Given the description of an element on the screen output the (x, y) to click on. 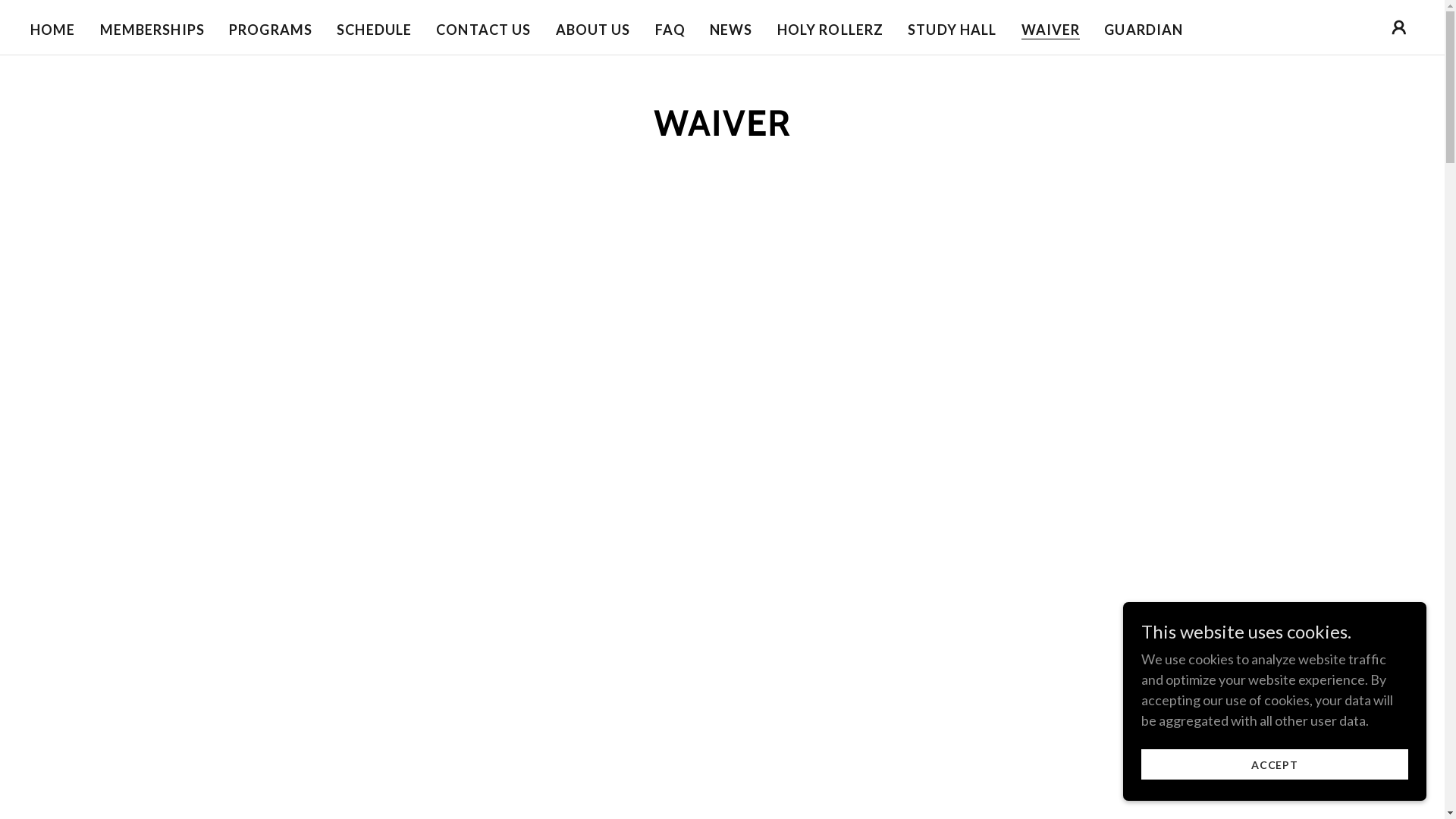
FAQ Element type: text (670, 28)
SCHEDULE Element type: text (374, 28)
MEMBERSHIPS Element type: text (152, 28)
HOLY ROLLERZ Element type: text (830, 28)
PROGRAMS Element type: text (270, 28)
WAIVER Element type: text (1050, 28)
ABOUT US Element type: text (593, 28)
HOME Element type: text (52, 28)
CONTACT US Element type: text (483, 28)
ACCEPT Element type: text (1274, 764)
GUARDIAN Element type: text (1143, 28)
STUDY HALL Element type: text (952, 28)
NEWS Element type: text (731, 28)
